Given the description of an element on the screen output the (x, y) to click on. 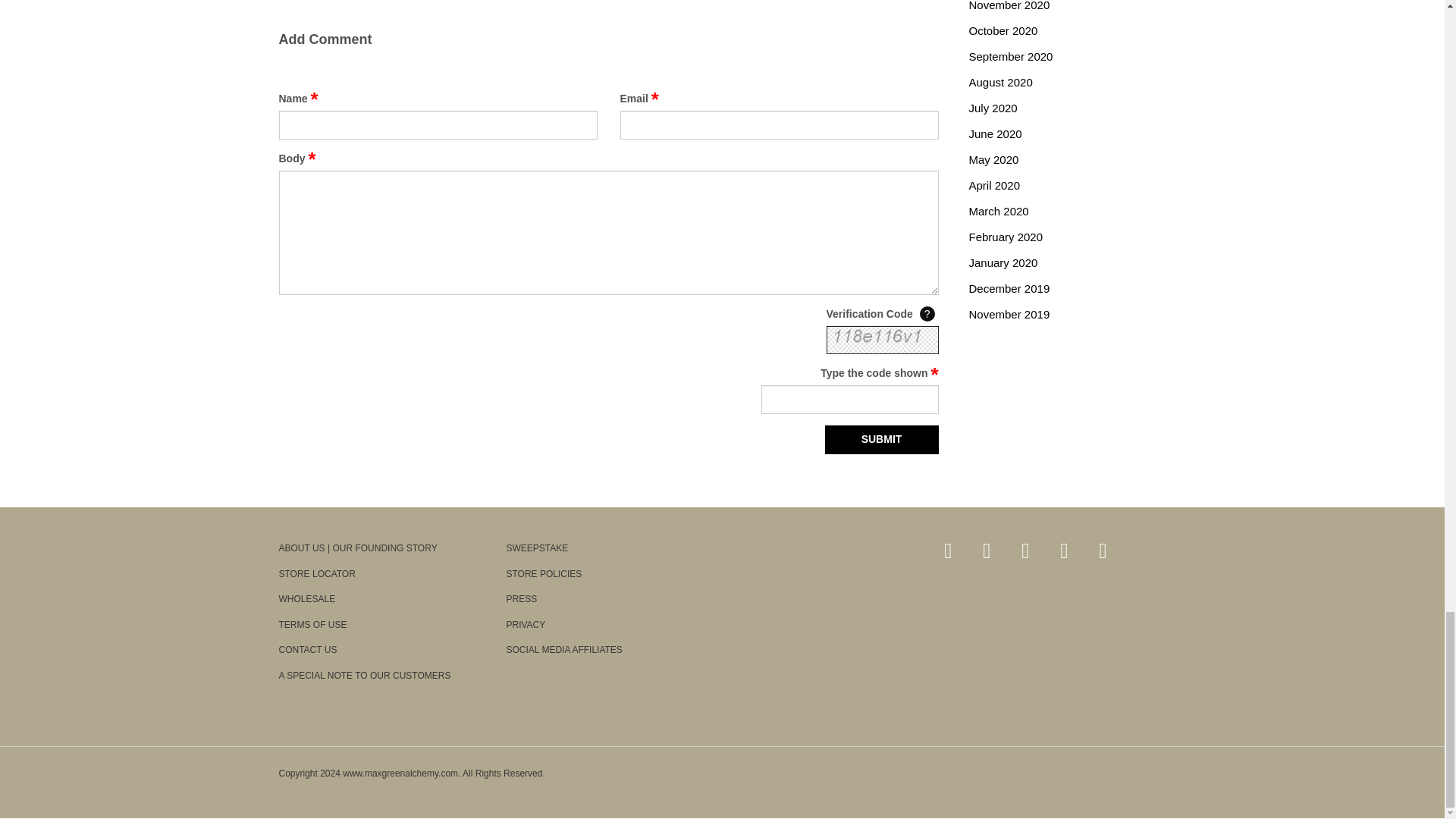
Follow Us on Twitter (1025, 550)
Submit (882, 439)
Like Us on Facebook (986, 550)
Subscribe to our Blog (947, 550)
Follow Us on Instagram (1102, 550)
Subscribe to our Channel (1063, 550)
